Given the description of an element on the screen output the (x, y) to click on. 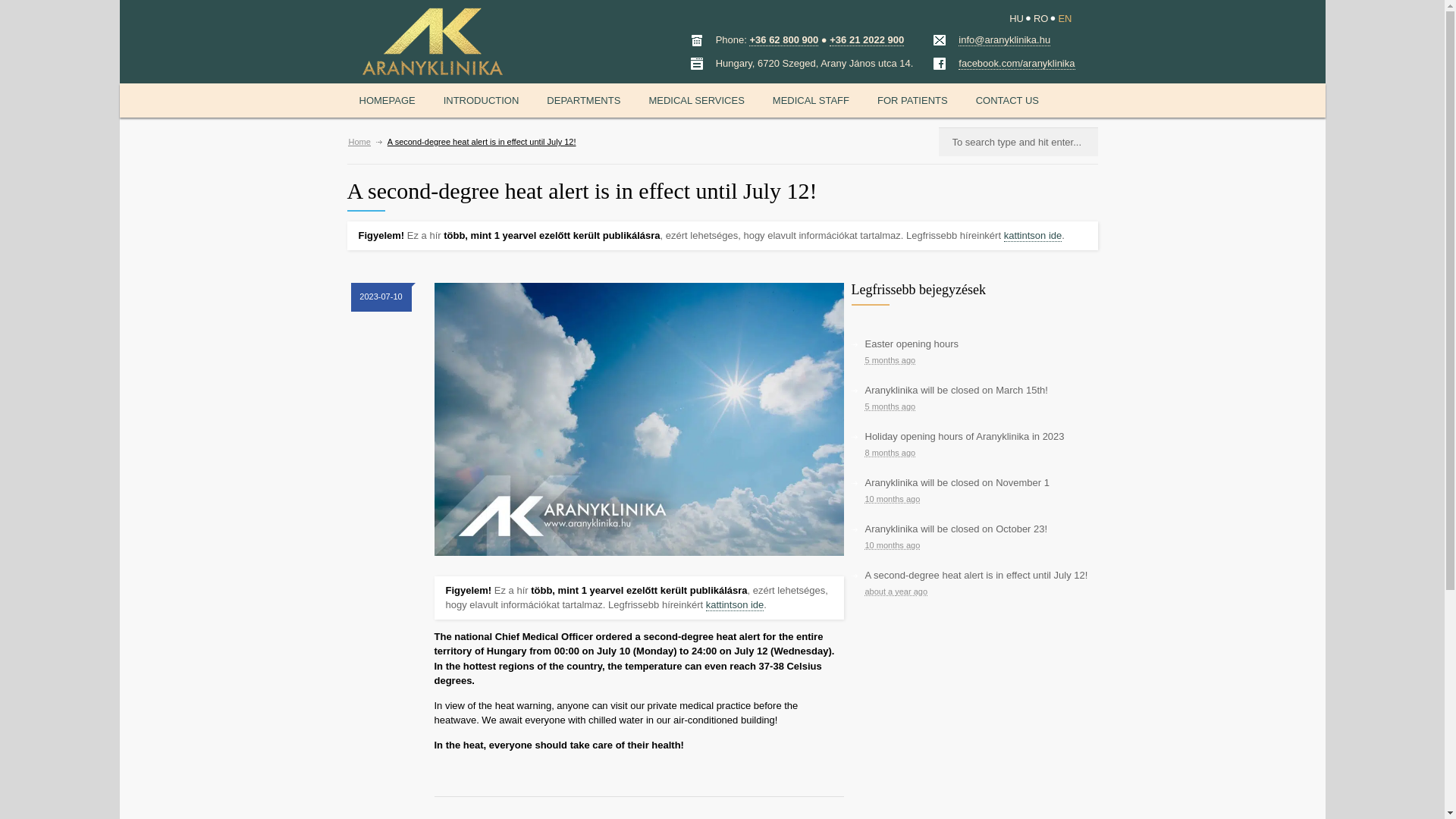
RO (1040, 18)
CONTACT US (1007, 100)
A second-degree heat alert is in effect until July 12! (975, 574)
Holiday opening hours of Aranyklinika in 2023 (964, 436)
Home (360, 141)
HOMEPAGE (387, 100)
INTRODUCTION (480, 100)
FOR PATIENTS (911, 100)
kattintson ide (735, 604)
kattintson ide (1033, 235)
